Given the description of an element on the screen output the (x, y) to click on. 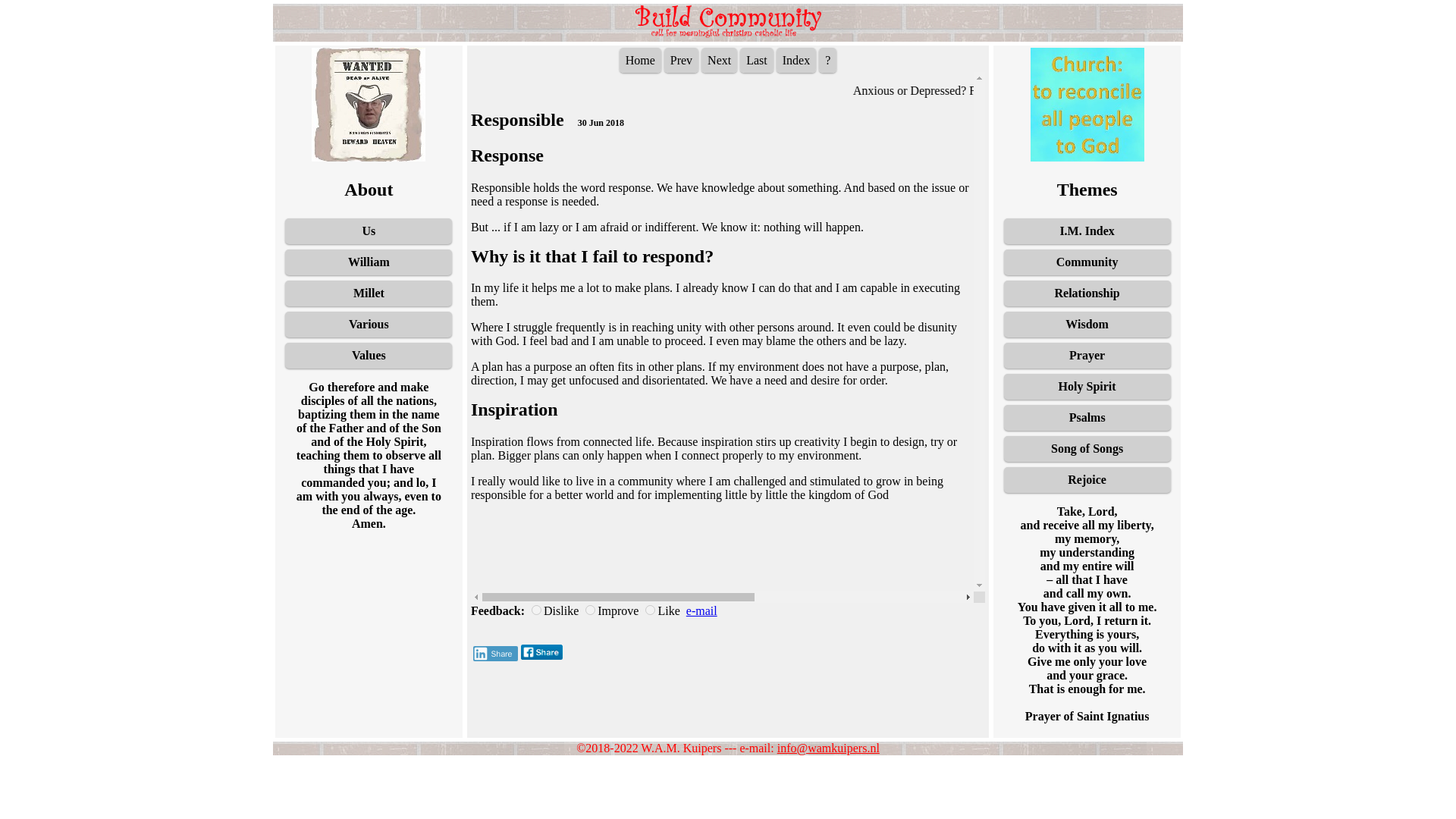
Millet (368, 293)
Last (756, 60)
? (826, 60)
Various (368, 324)
improve (590, 610)
Next (718, 60)
Values (368, 355)
William (368, 262)
Home (640, 60)
dislike (536, 610)
Share (495, 653)
like (650, 610)
Us (368, 231)
Prev (680, 60)
Index (795, 60)
